Given the description of an element on the screen output the (x, y) to click on. 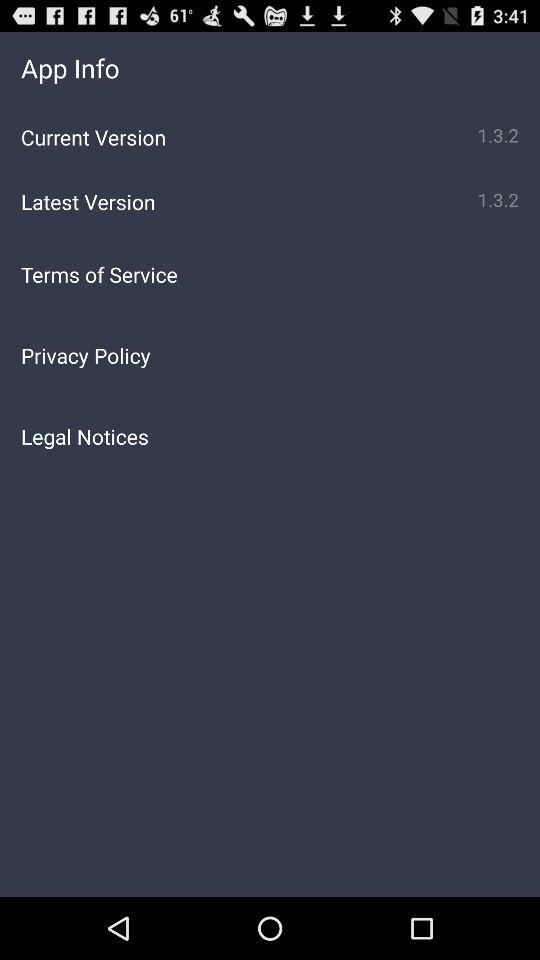
launch the icon above the privacy policy app (270, 274)
